Given the description of an element on the screen output the (x, y) to click on. 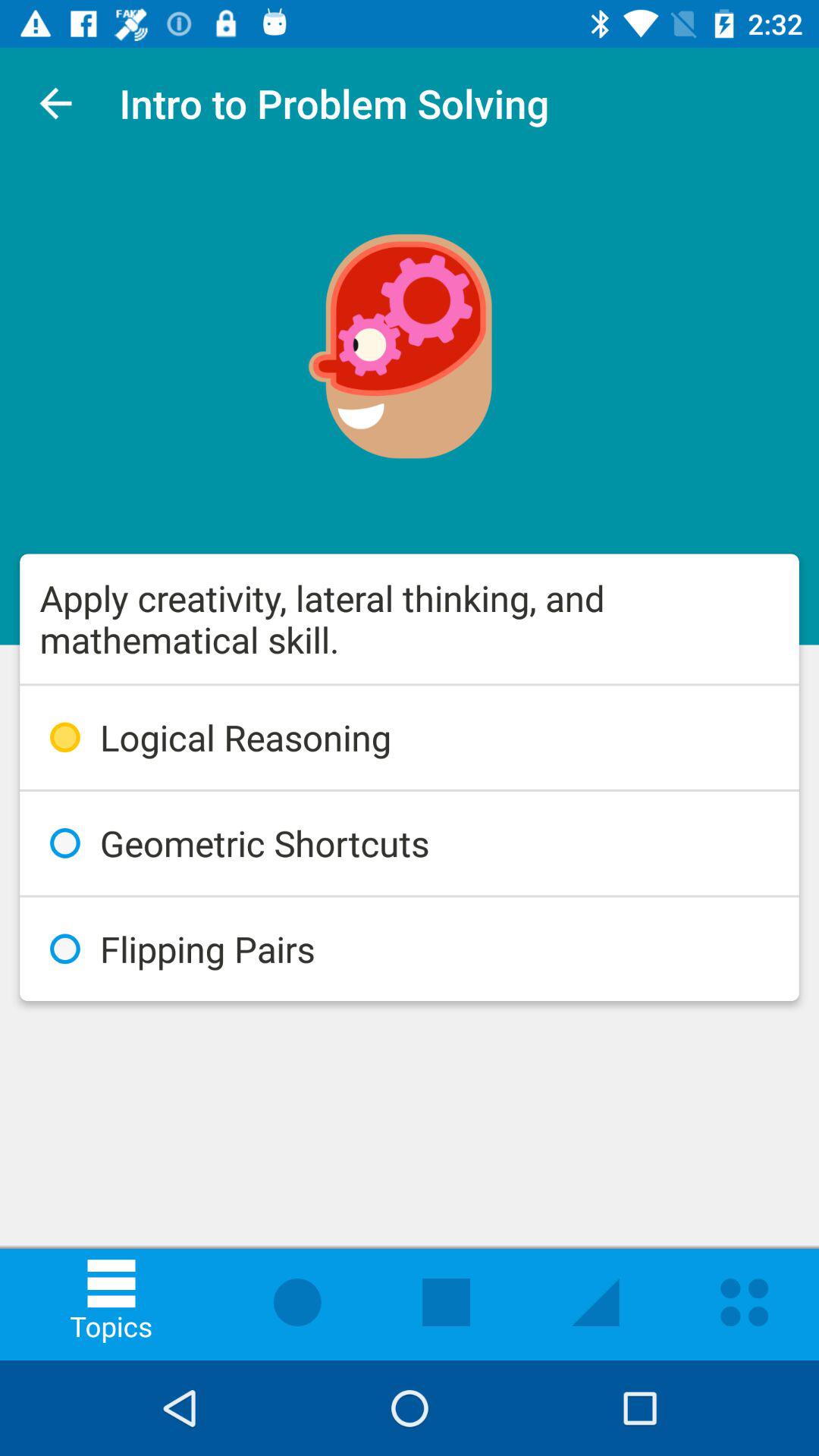
press the icon below logical reasoning icon (409, 843)
